Given the description of an element on the screen output the (x, y) to click on. 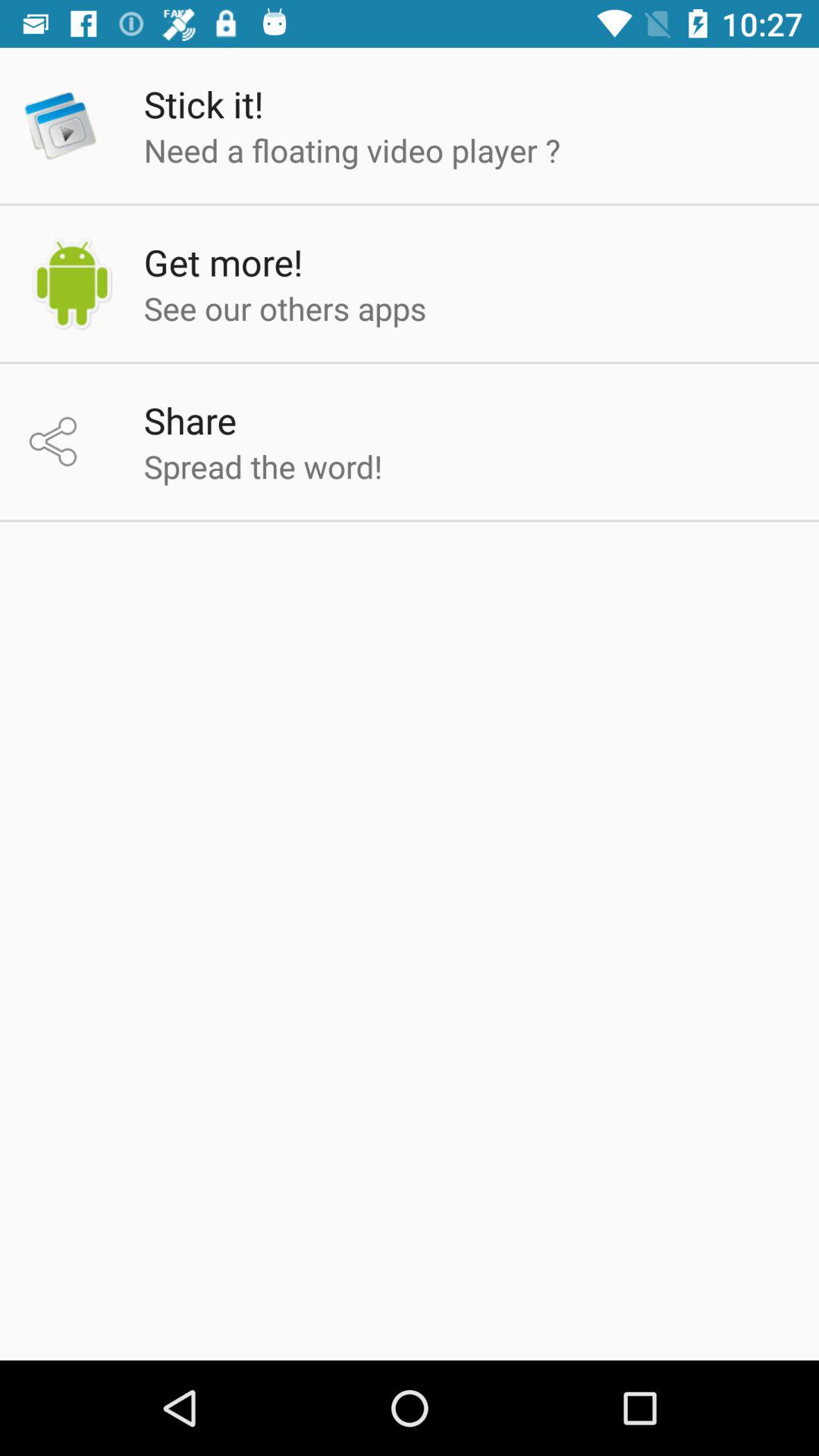
launch spread the word! app (262, 465)
